Given the description of an element on the screen output the (x, y) to click on. 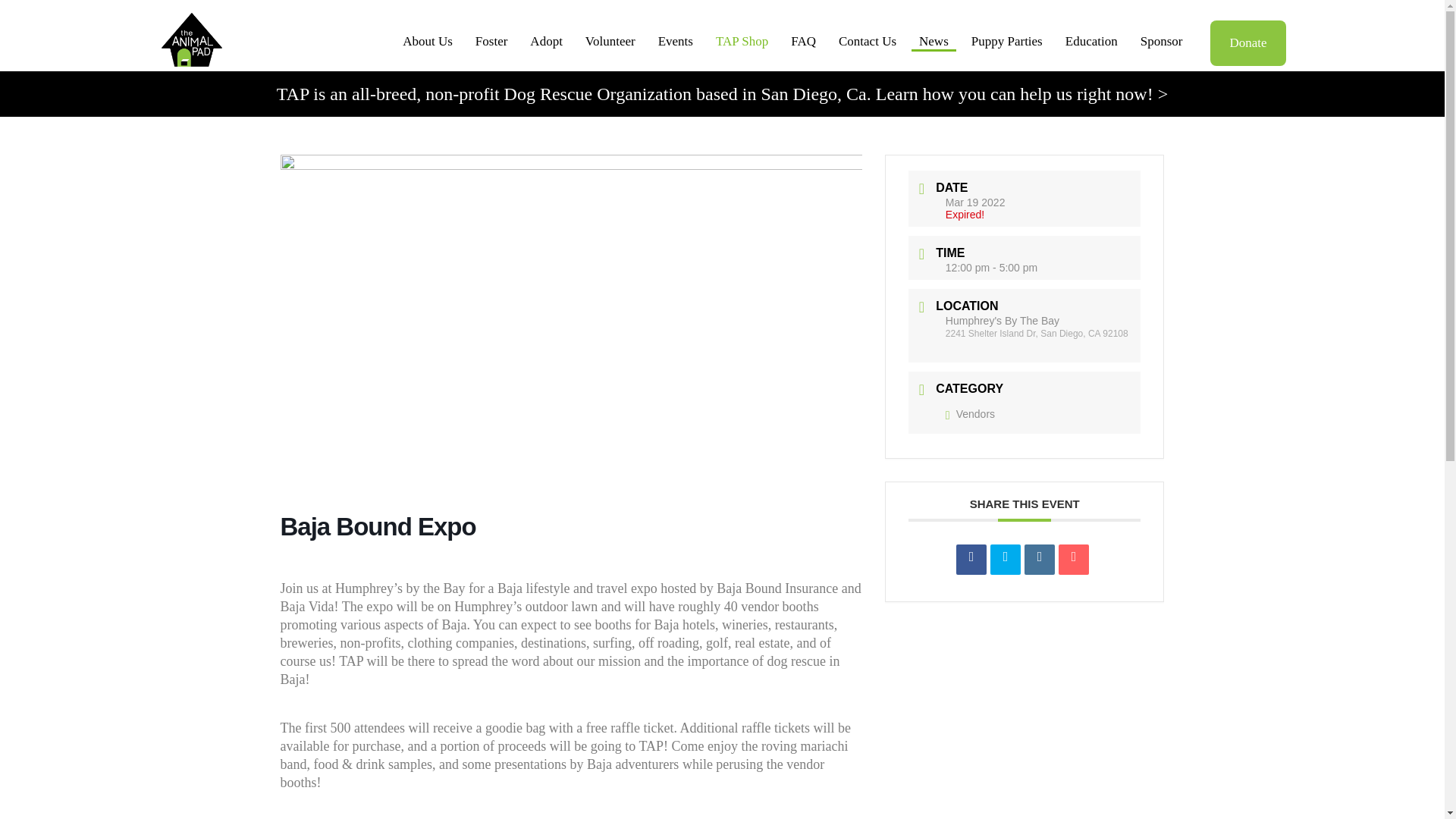
Contact Us (867, 42)
About Us (427, 42)
Sponsor (1161, 42)
Volunteer (610, 42)
Vendors (969, 413)
News (933, 42)
FAQ (803, 42)
Adopt (546, 42)
Foster (491, 42)
Donate (1247, 43)
